Given the description of an element on the screen output the (x, y) to click on. 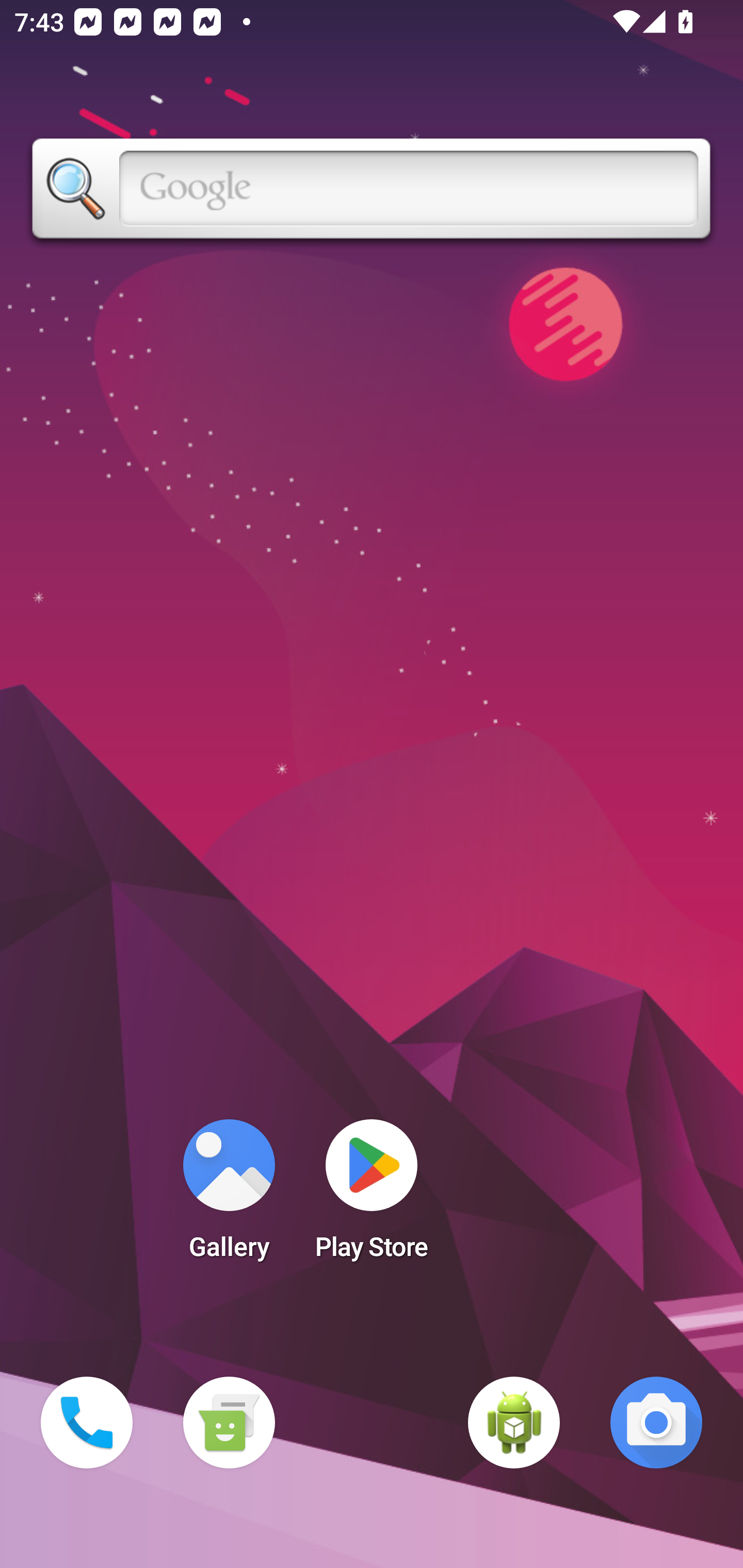
Gallery (228, 1195)
Play Store (371, 1195)
Phone (86, 1422)
Messaging (228, 1422)
WebView Browser Tester (513, 1422)
Camera (656, 1422)
